Given the description of an element on the screen output the (x, y) to click on. 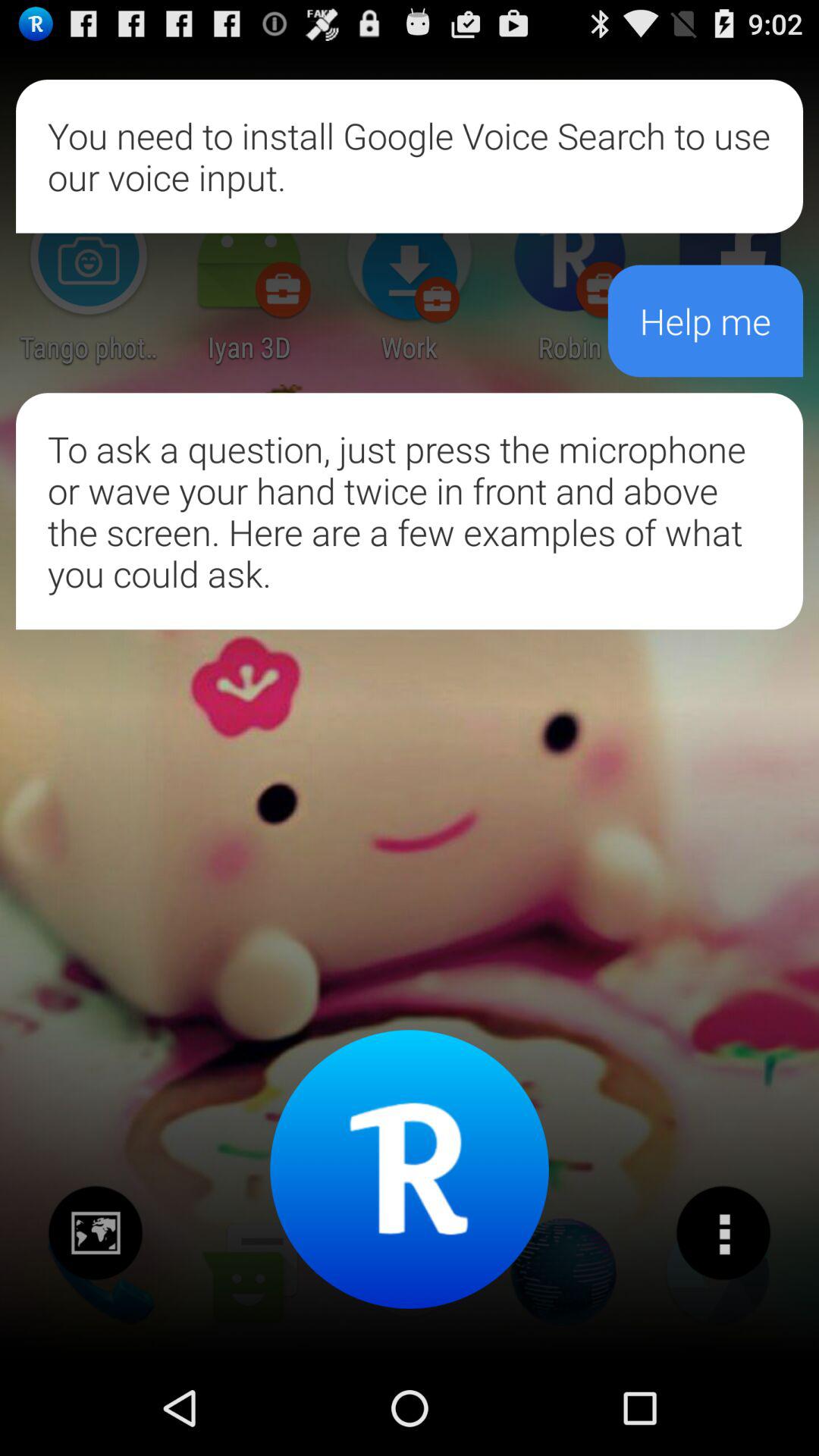
press the icon at the bottom right corner (723, 1232)
